Given the description of an element on the screen output the (x, y) to click on. 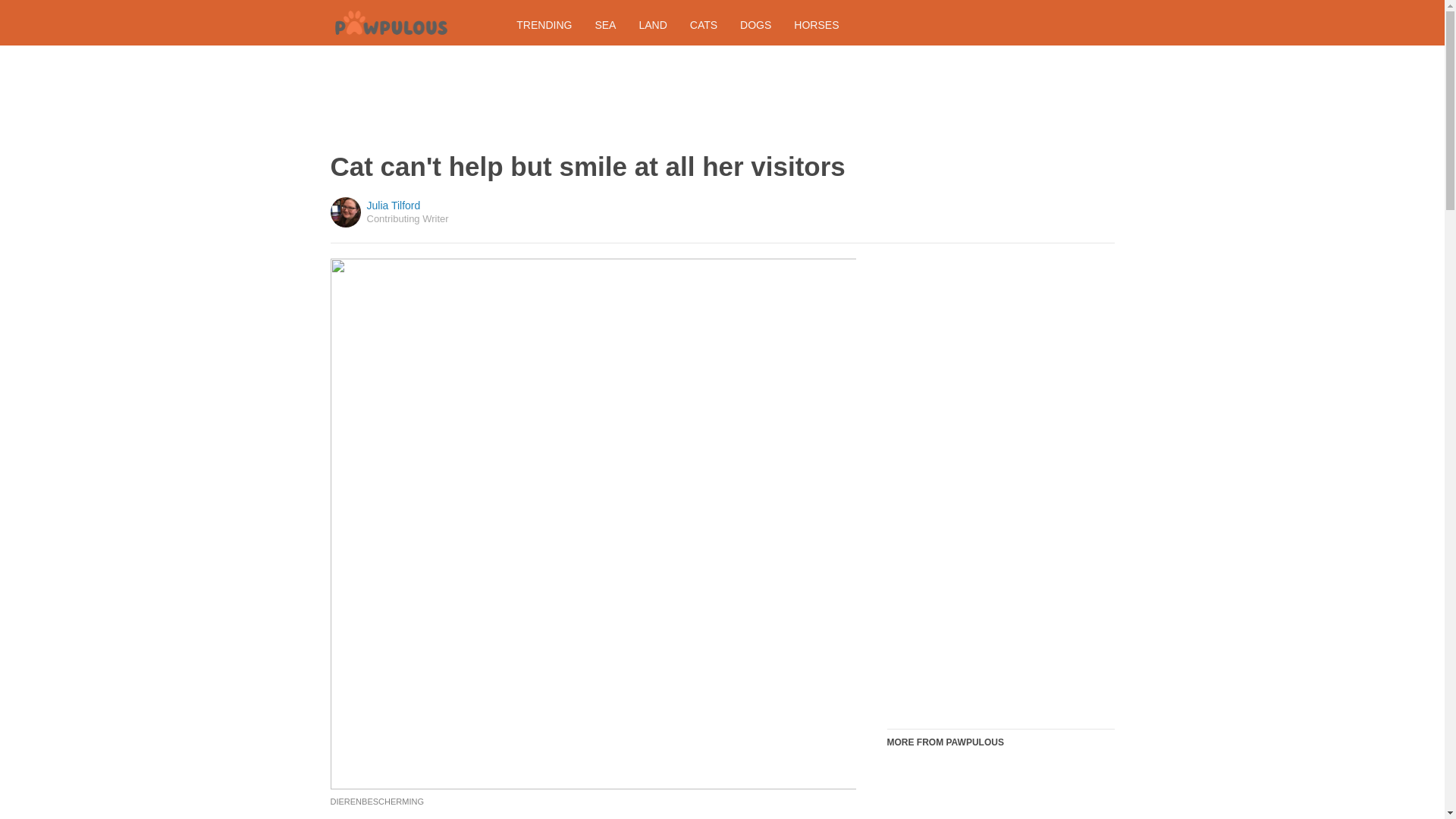
SEA (604, 24)
TRENDING (544, 24)
LAND (652, 24)
CATS (703, 24)
DOGS (755, 24)
HORSES (815, 24)
